Given the description of an element on the screen output the (x, y) to click on. 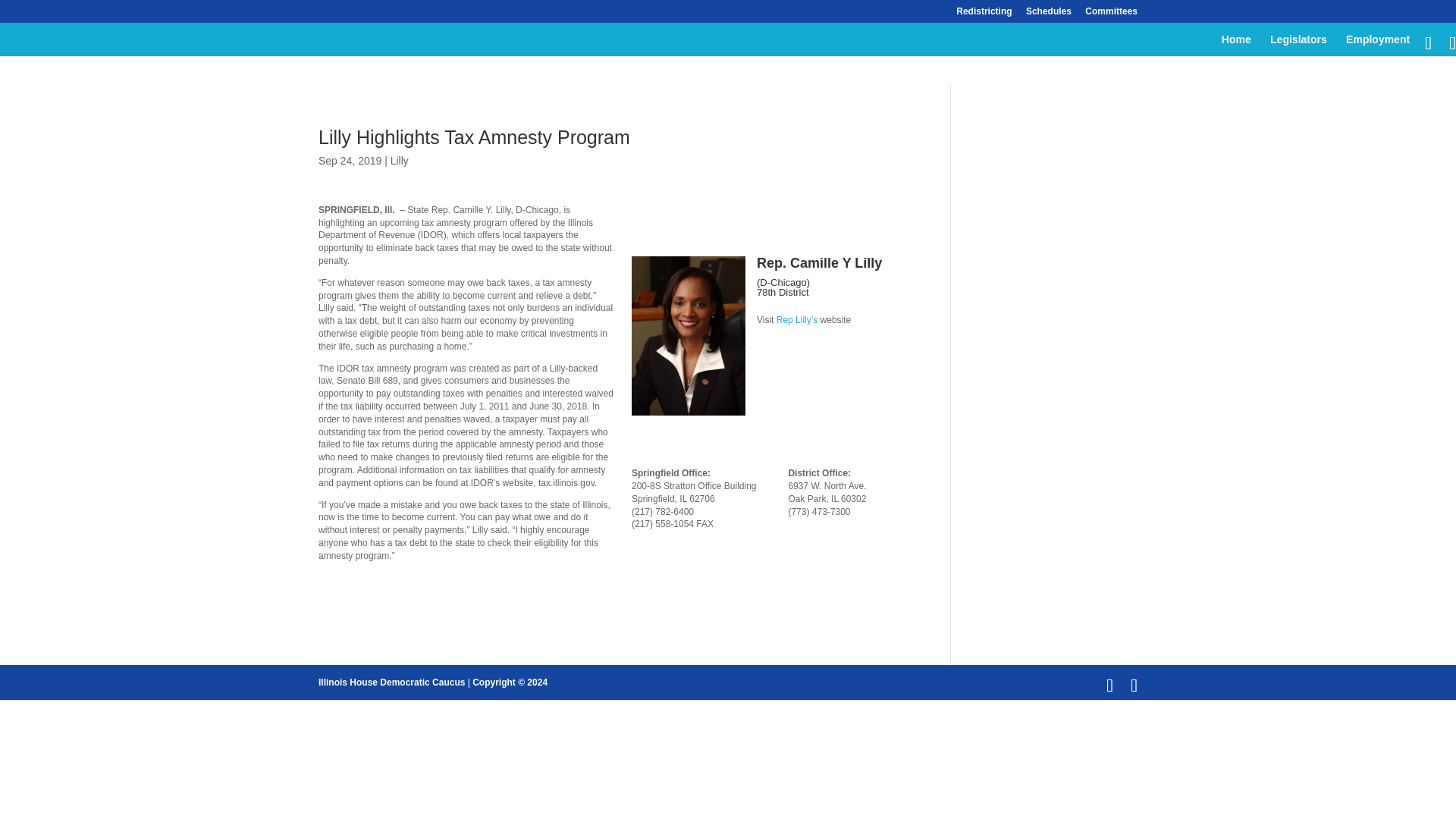
Employment (1377, 45)
Redistricting (983, 14)
Illinois House Democratic Caucus (391, 682)
Lilly (399, 160)
Legislators (1297, 45)
Home (1235, 45)
Committees (1110, 14)
Schedules (1048, 14)
IL House Democrats (391, 682)
Follow on Facebook (768, 346)
